Given the description of an element on the screen output the (x, y) to click on. 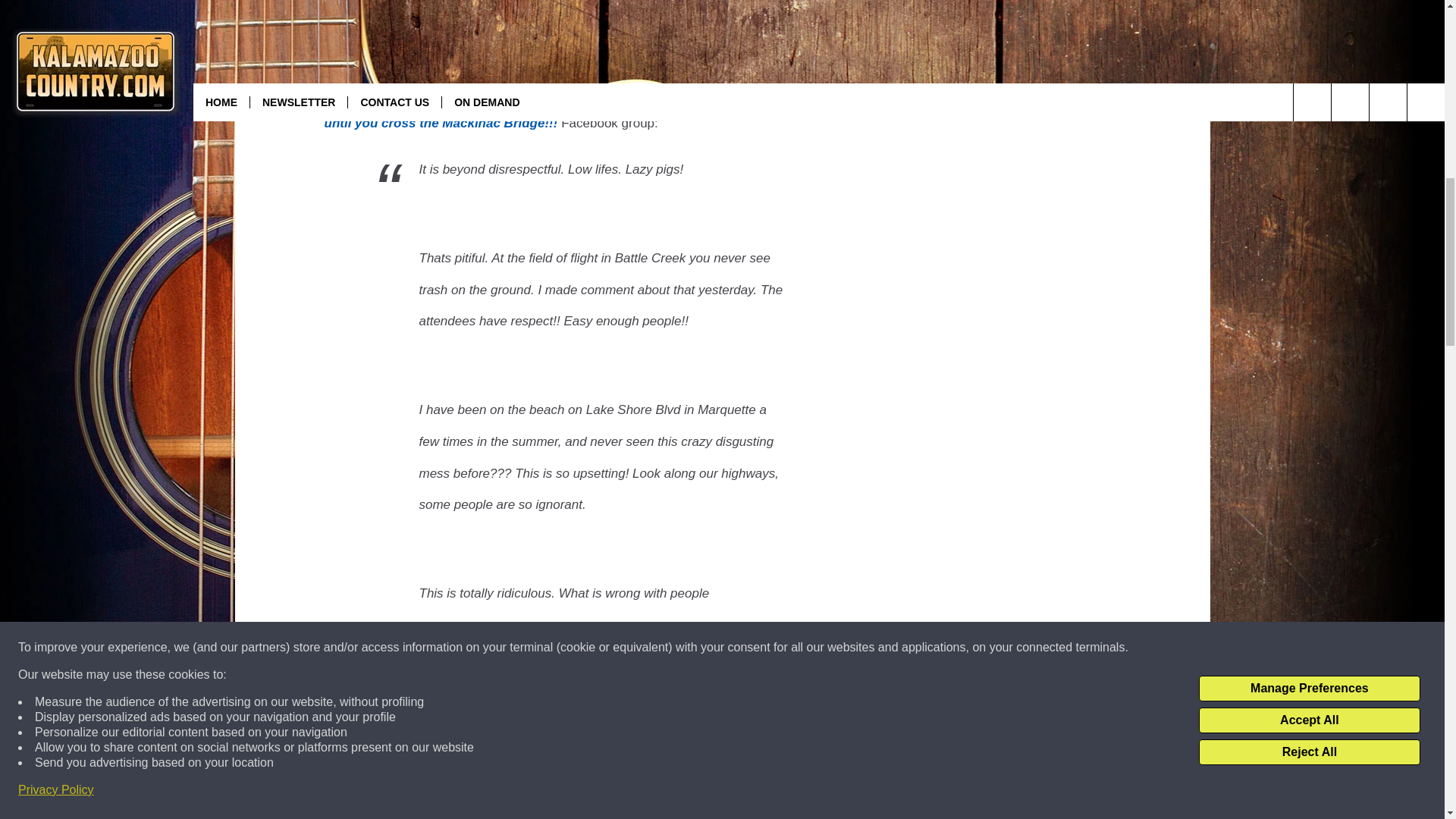
You're not "Up North" until you cross the Mackinac Bridge!!! (594, 110)
